Given the description of an element on the screen output the (x, y) to click on. 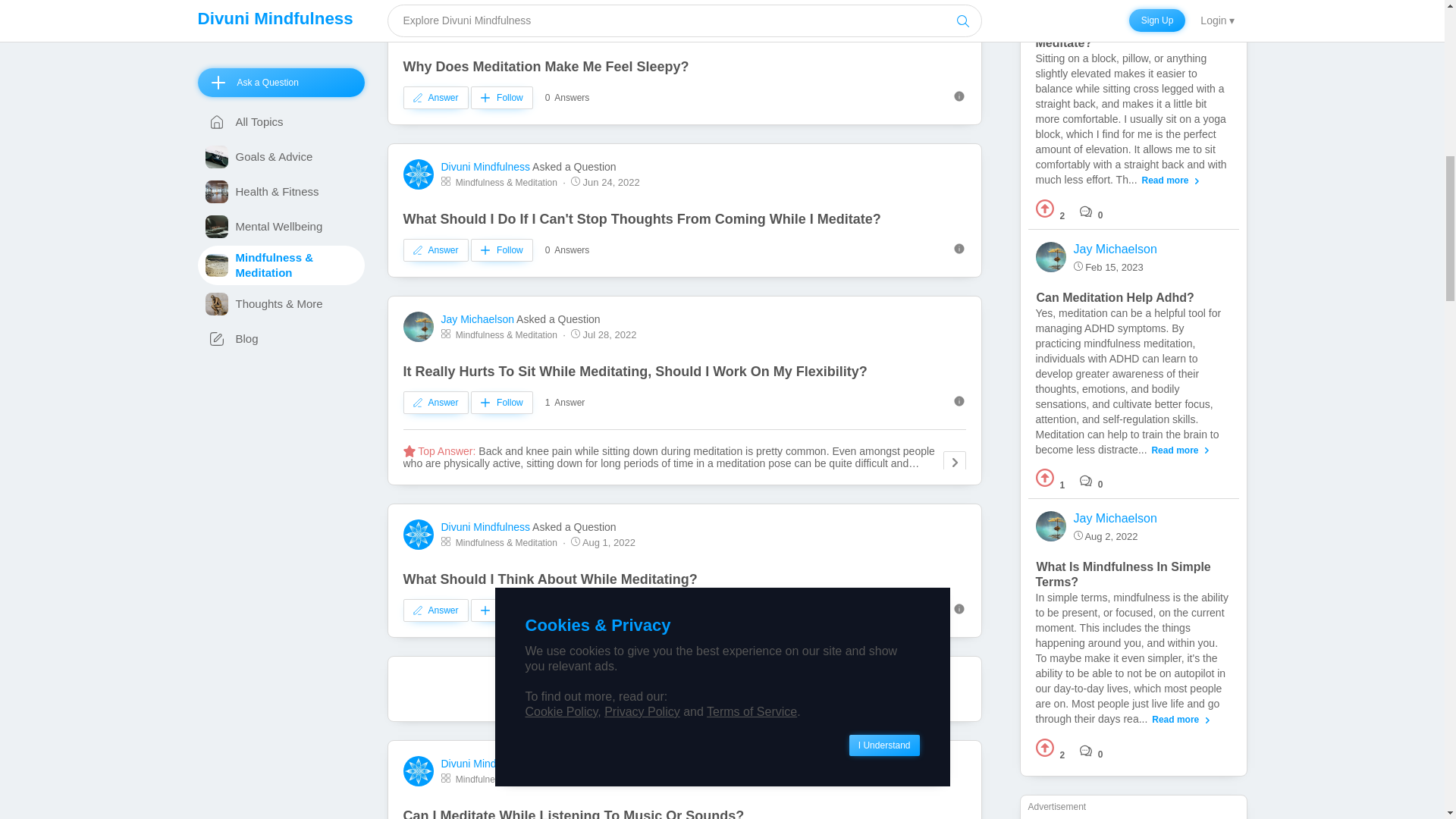
View Question (1121, 26)
Answer Comments (1091, 211)
View Answer (1133, 119)
View Question (1115, 297)
